Given the description of an element on the screen output the (x, y) to click on. 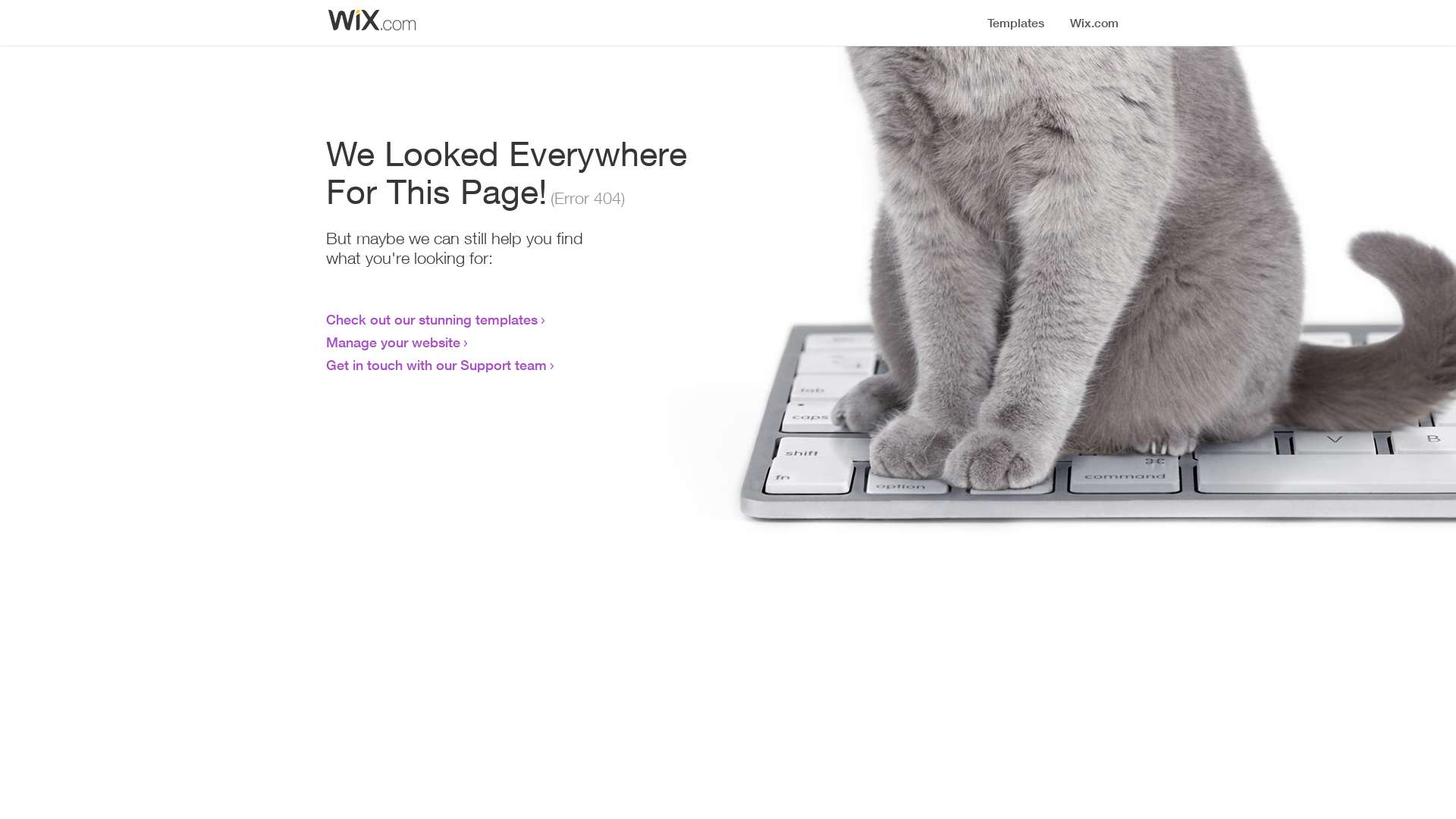
Get in touch with our Support team Element type: text (436, 364)
Manage your website Element type: text (393, 341)
Check out our stunning templates Element type: text (431, 318)
